Given the description of an element on the screen output the (x, y) to click on. 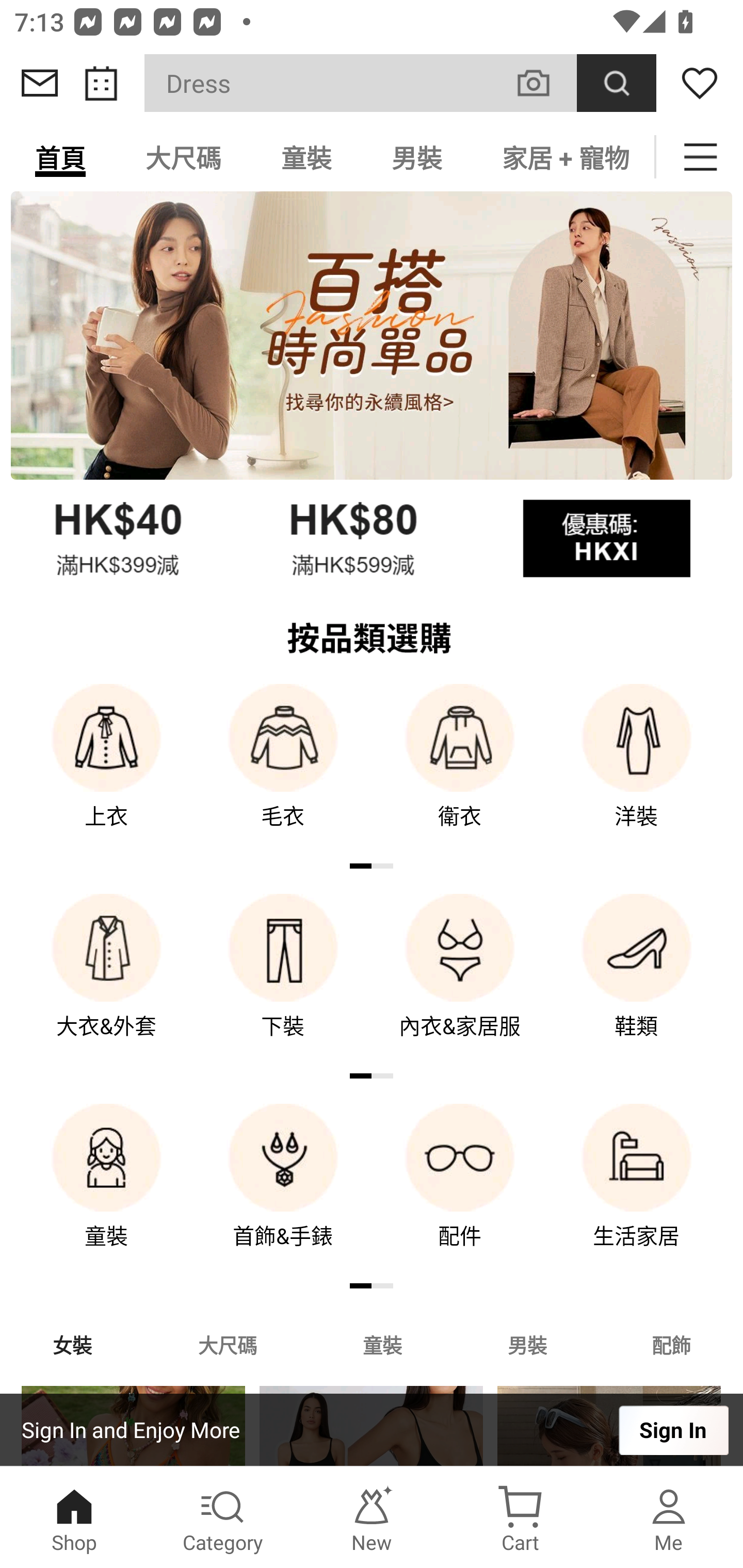
Wishlist (699, 82)
VISUAL SEARCH (543, 82)
首頁 (60, 156)
大尺碼 (183, 156)
童裝 (306, 156)
男裝 (416, 156)
家居 + 寵物 (563, 156)
上衣 (105, 769)
毛衣 (282, 769)
衛衣 (459, 769)
洋裝 (636, 769)
大衣&外套 (105, 979)
下裝 (282, 979)
內衣&家居服 (459, 979)
鞋類 (636, 979)
童裝 (105, 1189)
首飾&手錶 (282, 1189)
配件 (459, 1189)
生活家居 (636, 1189)
女裝 (72, 1344)
大尺碼 (226, 1344)
童裝 (381, 1344)
男裝 (527, 1344)
配飾 (671, 1344)
Sign In and Enjoy More Sign In (371, 1429)
Category (222, 1517)
New (371, 1517)
Cart (519, 1517)
Me (668, 1517)
